Given the description of an element on the screen output the (x, y) to click on. 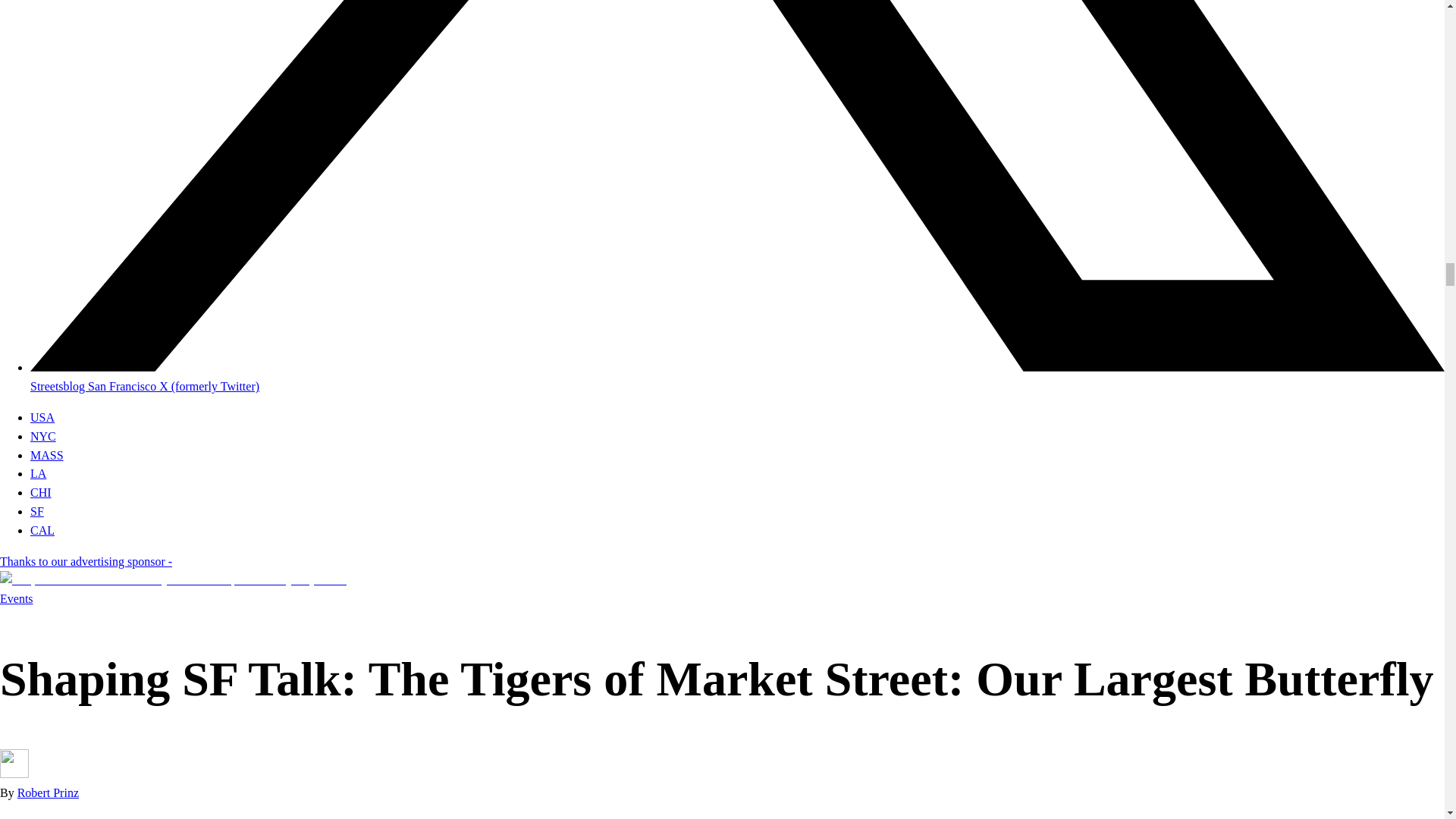
NYC (43, 436)
Robert Prinz (47, 792)
USA (42, 417)
Events (16, 598)
SF (36, 511)
CAL (42, 530)
CHI (40, 492)
MASS (47, 454)
LA (38, 472)
